Given the description of an element on the screen output the (x, y) to click on. 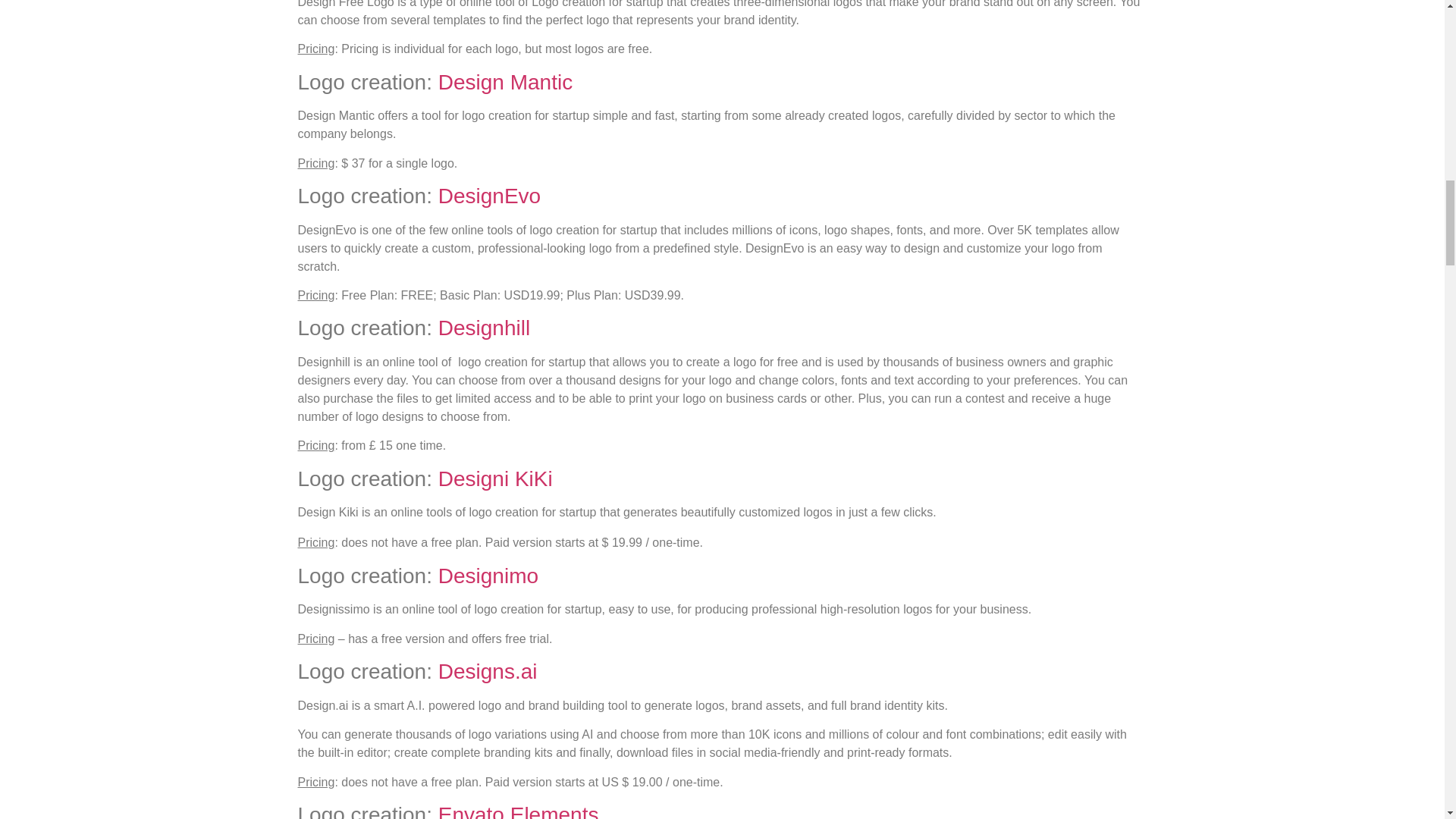
Design Mantic (505, 82)
DesignEvo (489, 196)
Designimo (488, 576)
Designhill (483, 327)
Designi KiKi (495, 478)
